Given the description of an element on the screen output the (x, y) to click on. 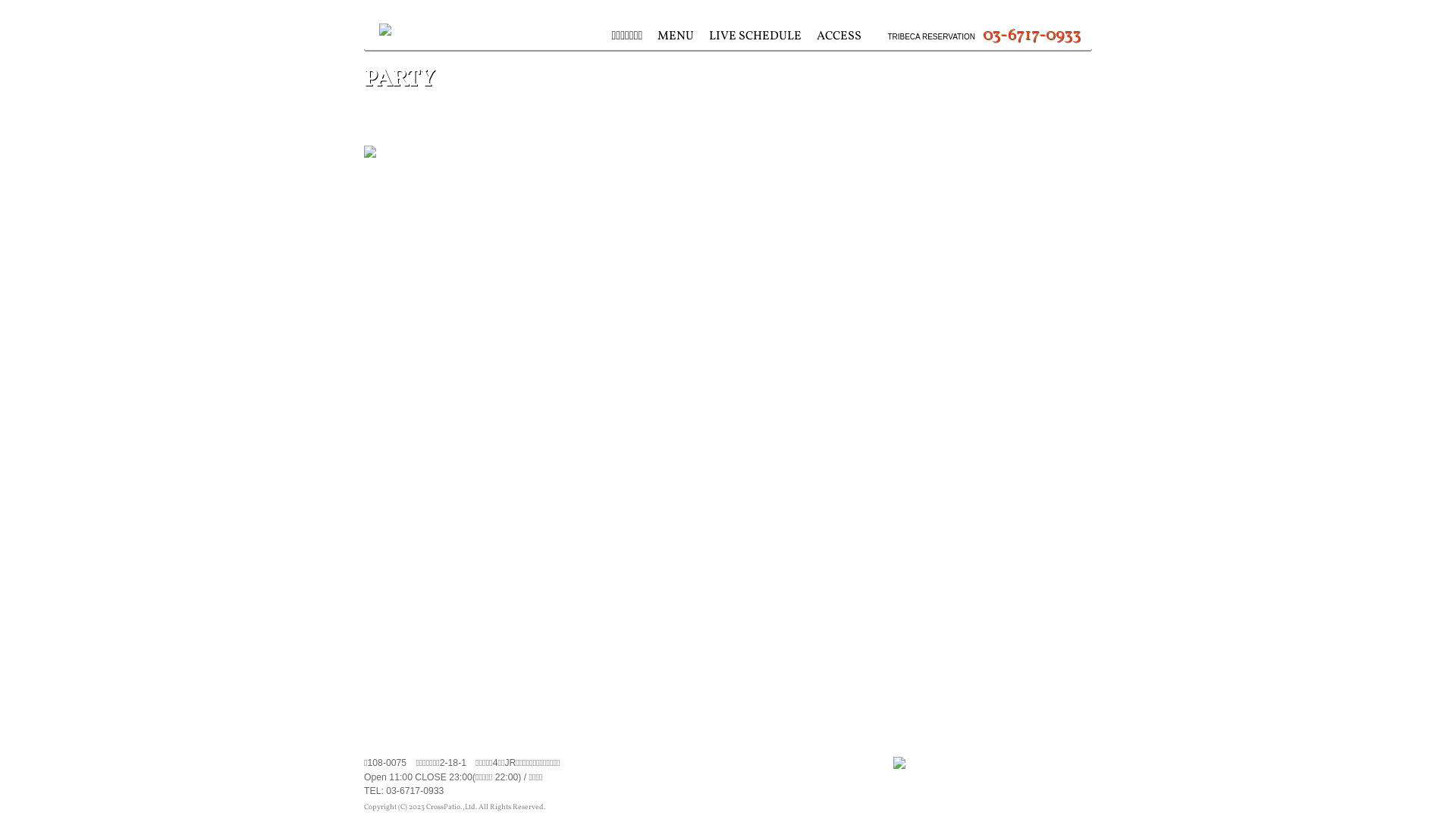
LIVE SCHEDULE Element type: text (755, 36)
MENU Element type: text (675, 36)
ACCESS Element type: text (839, 36)
